Given the description of an element on the screen output the (x, y) to click on. 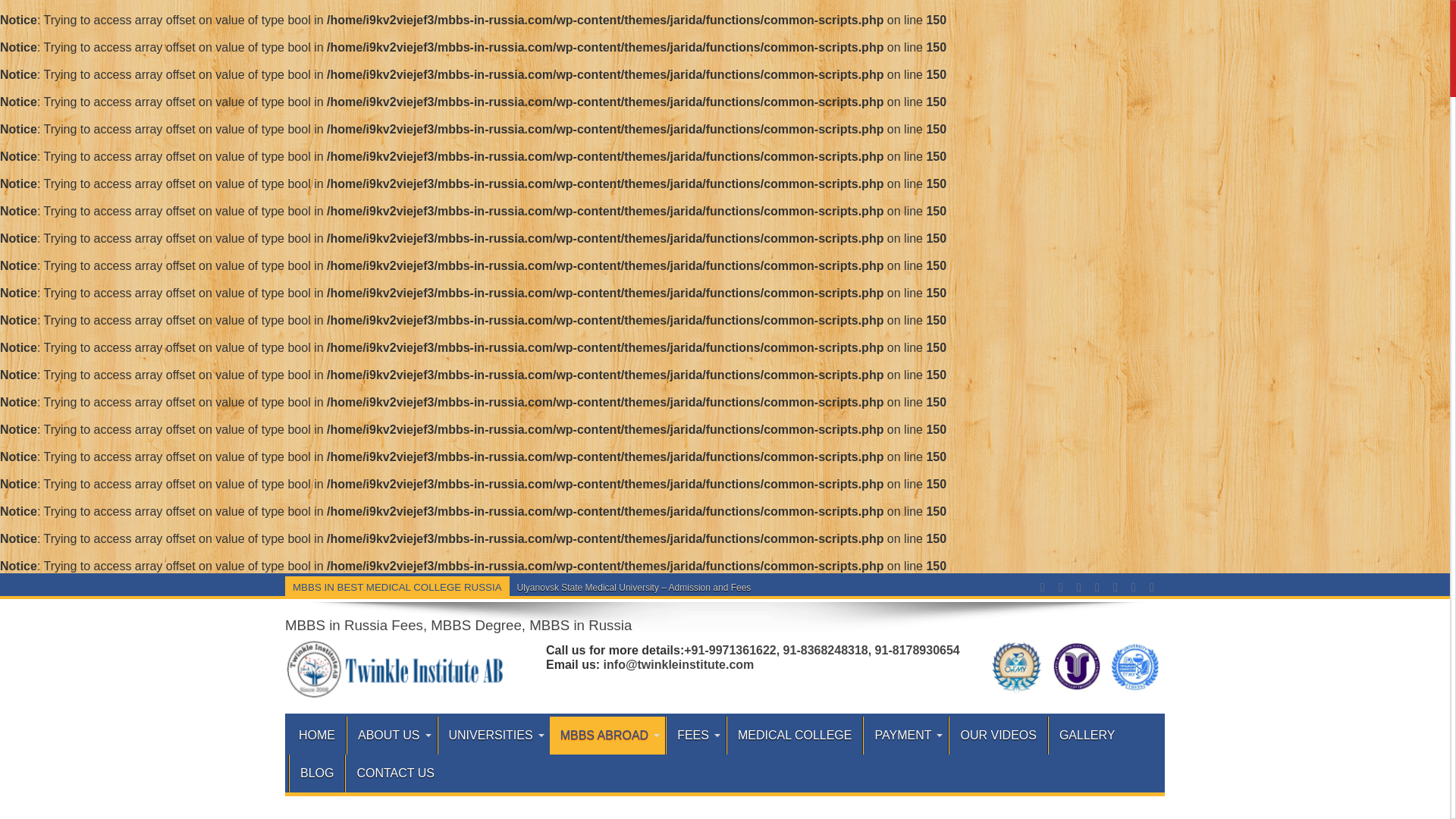
HOME (317, 735)
ABOUT US (391, 735)
UNIVERSITIES (492, 735)
MBBS in Russia Fees, MBBS Degree, MBBS in Russia (458, 625)
